Given the description of an element on the screen output the (x, y) to click on. 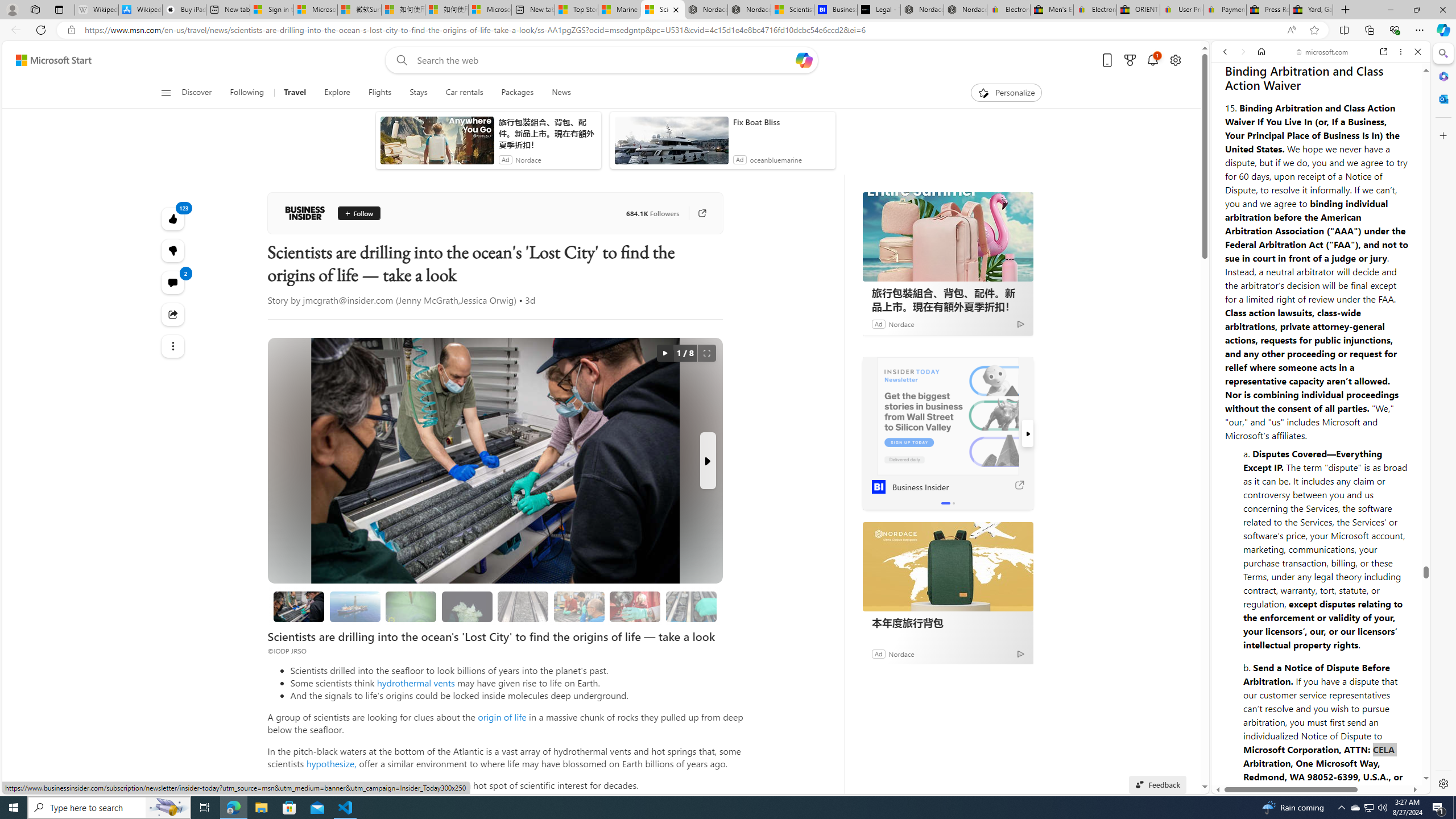
Looking for evidence of oxygen-free life (579, 606)
anim-content (671, 144)
Flights (379, 92)
microsoft.com (1323, 51)
Press Room - eBay Inc. (1267, 9)
Class: progress (691, 604)
